Given the description of an element on the screen output the (x, y) to click on. 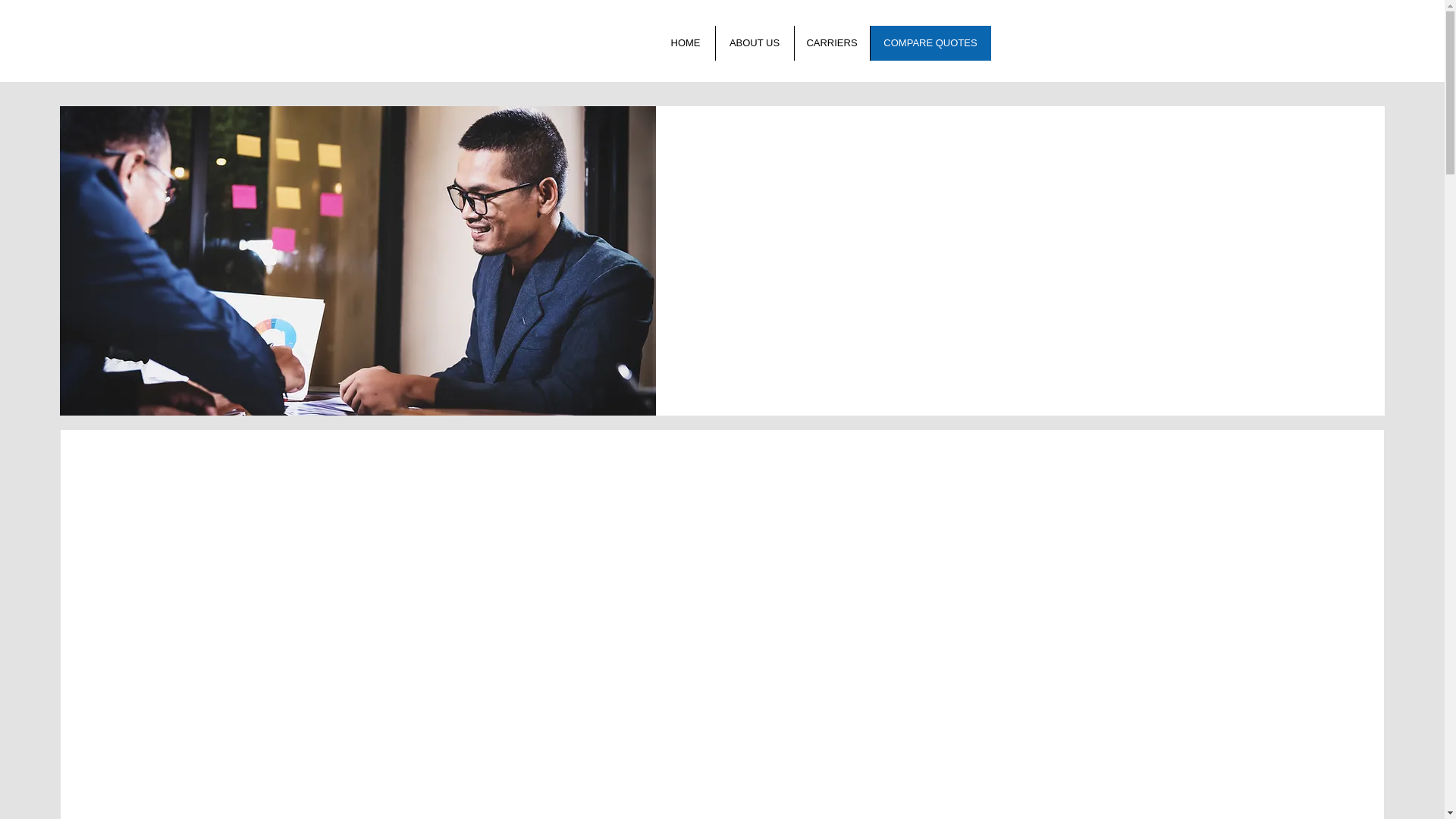
COMPARE QUOTES (929, 42)
HOME (685, 42)
CARRIERS (831, 42)
ABOUT US (753, 42)
